Given the description of an element on the screen output the (x, y) to click on. 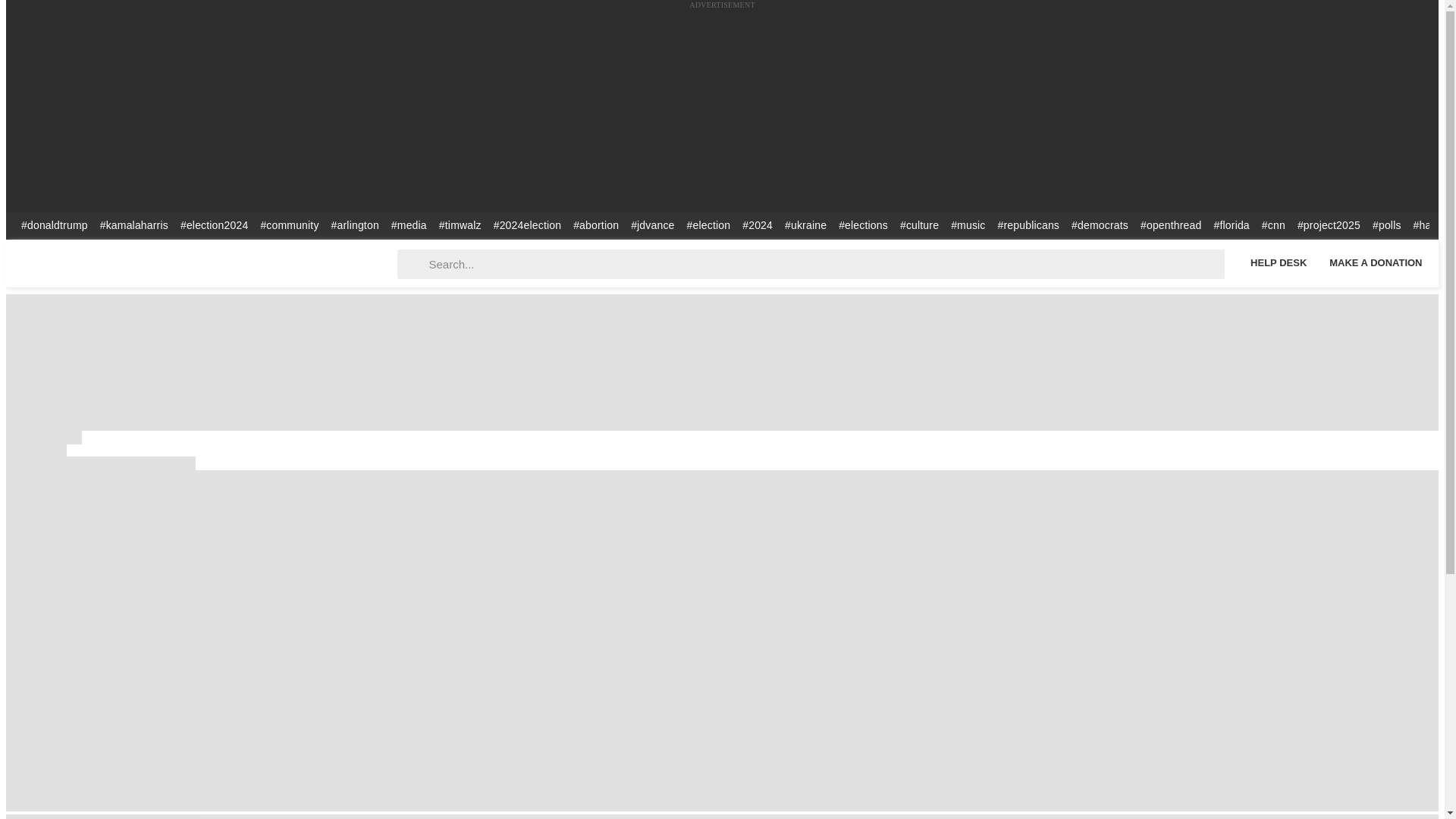
Help Desk (1277, 262)
MAKE A DONATION (1375, 262)
Make a Donation (1375, 262)
